Given the description of an element on the screen output the (x, y) to click on. 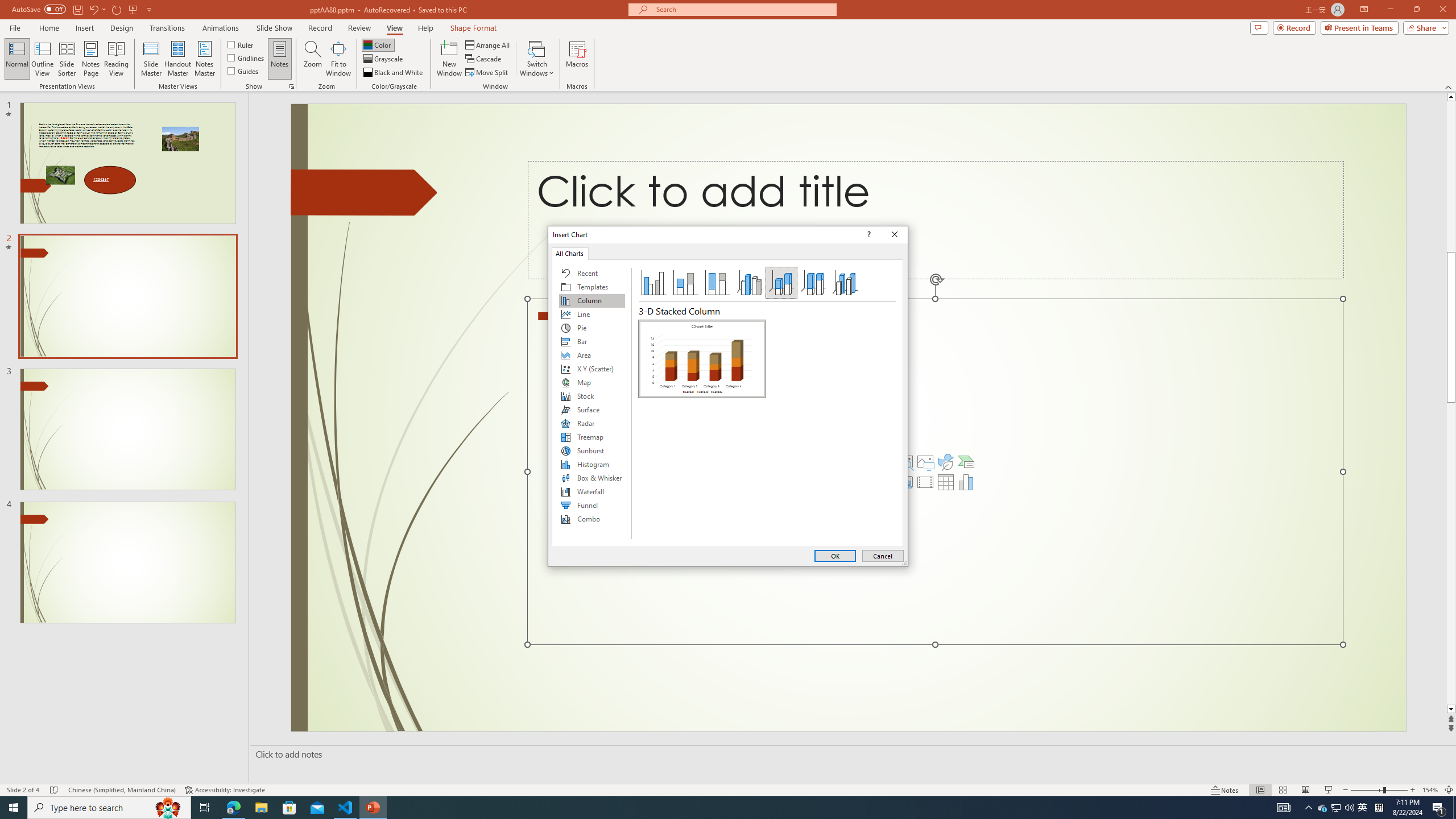
Notes Master (204, 58)
Switch Windows (537, 58)
Color (377, 44)
